Given the description of an element on the screen output the (x, y) to click on. 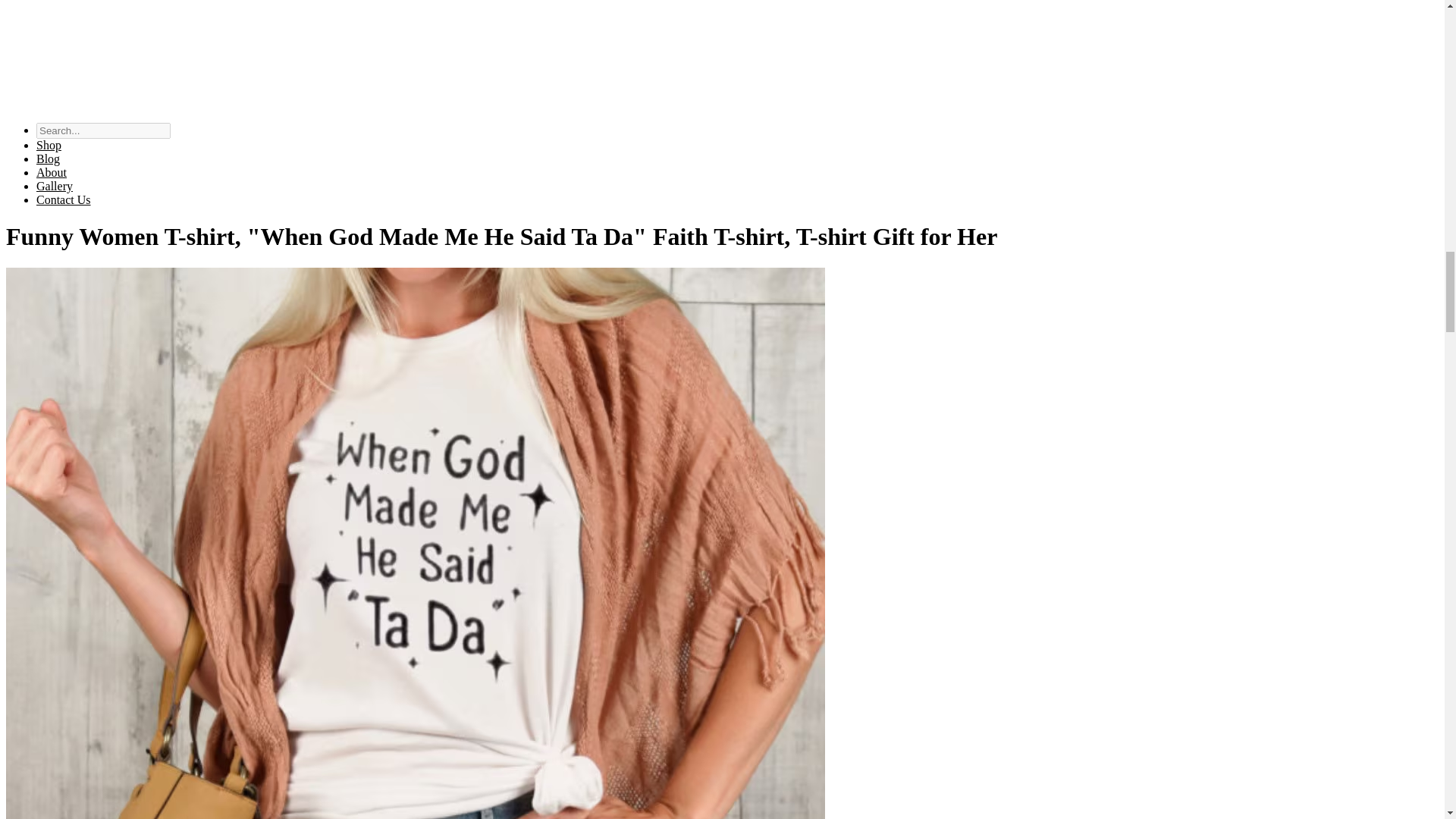
Shop (48, 144)
Gallery (54, 185)
Contact Us (63, 199)
Blog (47, 158)
About (51, 172)
